Given the description of an element on the screen output the (x, y) to click on. 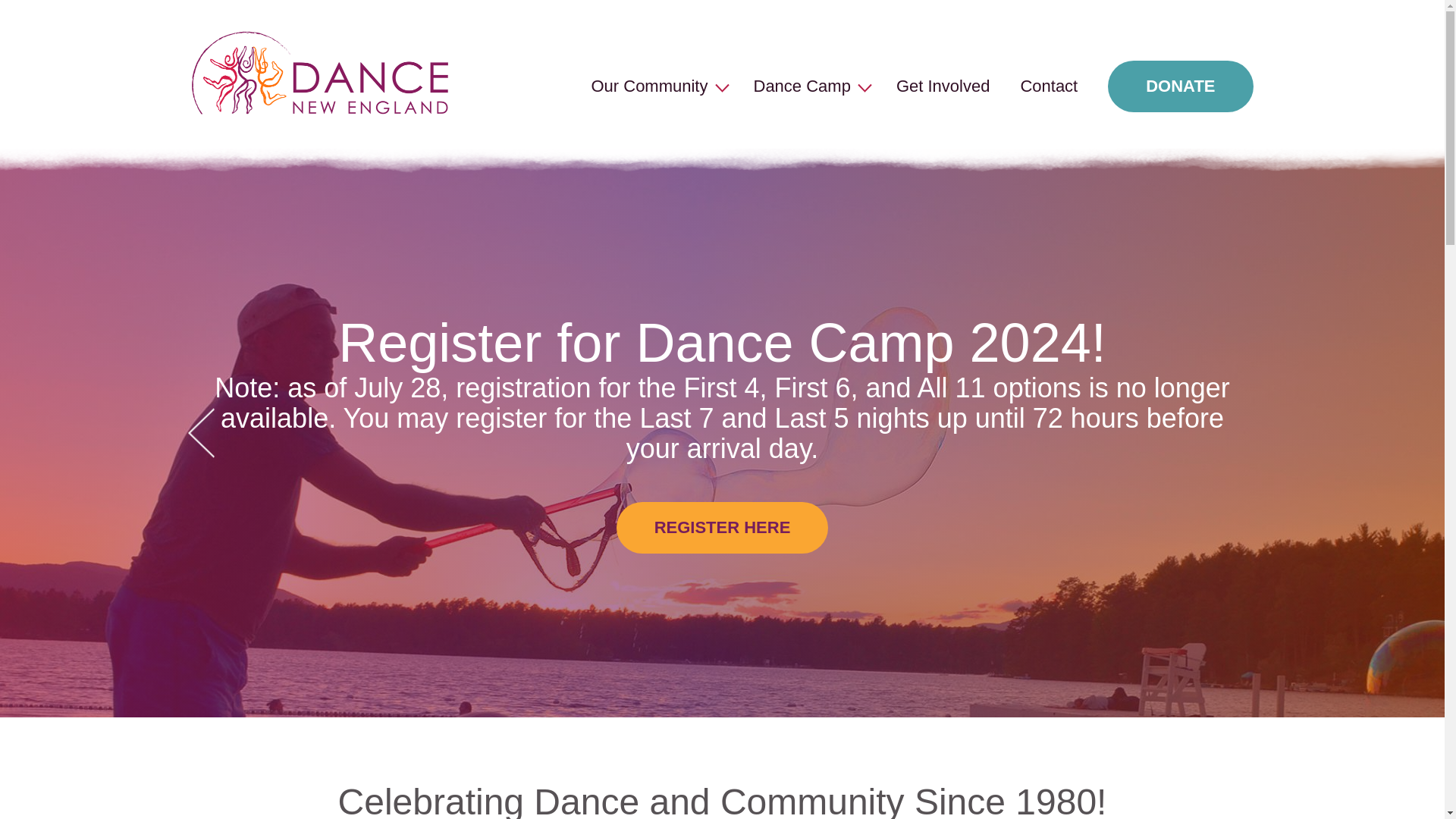
Our Community (649, 85)
DONATE (1180, 86)
Get Involved (943, 85)
REGISTER HERE (721, 527)
Dance Camp (802, 85)
Contact (1048, 85)
